Given the description of an element on the screen output the (x, y) to click on. 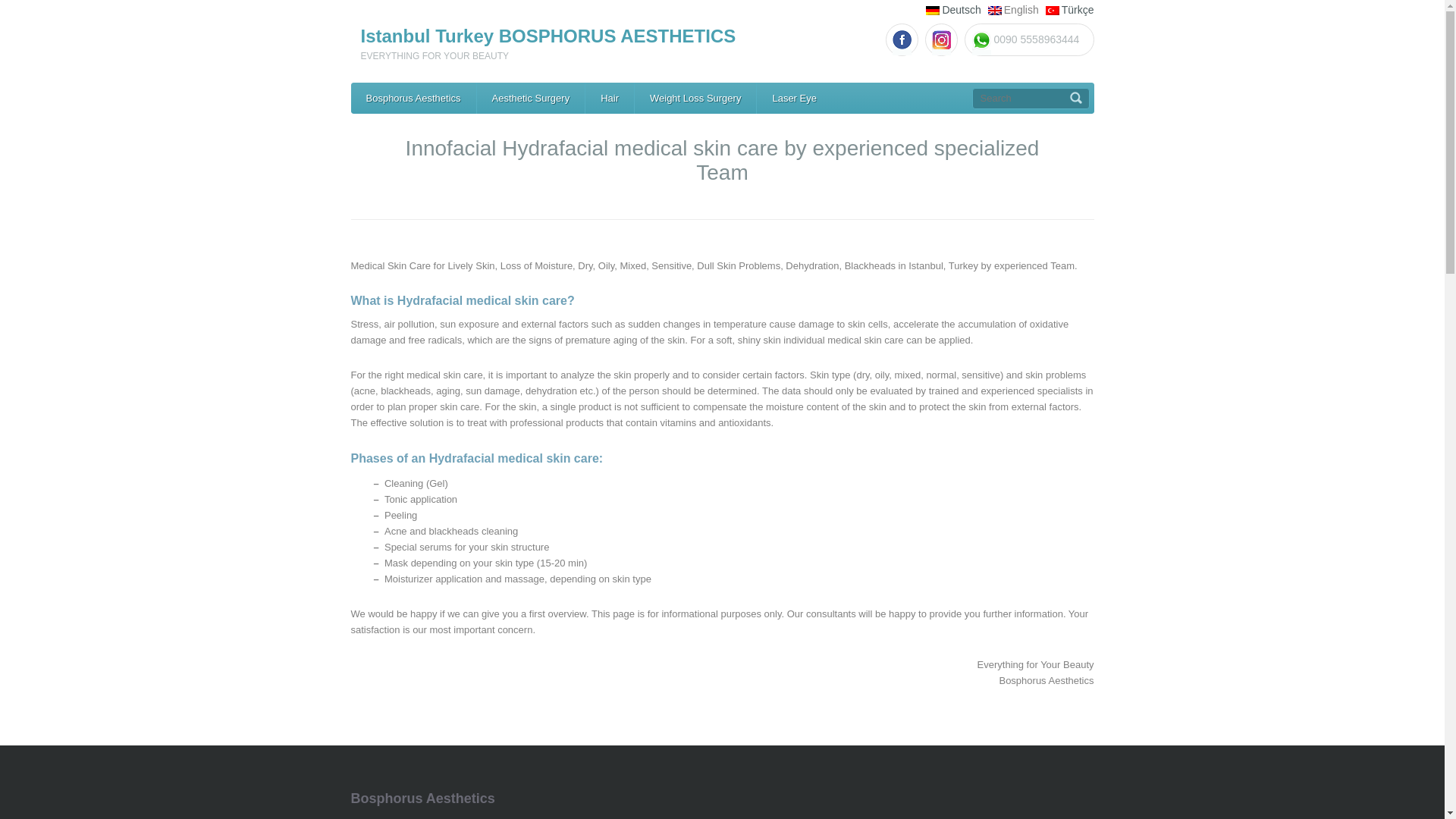
Aesthetic Surgery (531, 97)
Deutsch (960, 9)
Istanbul Turkey BOSPHORUS AESTHETICS (548, 35)
Bosphorus Aesthetics (413, 97)
Plastic and Aesthetic Surgery, Beauty Treatments (531, 97)
Istanbul Turkey BOSPHORUS AESTHETICS (548, 35)
Everything for Your Beauty (413, 97)
